Given the description of an element on the screen output the (x, y) to click on. 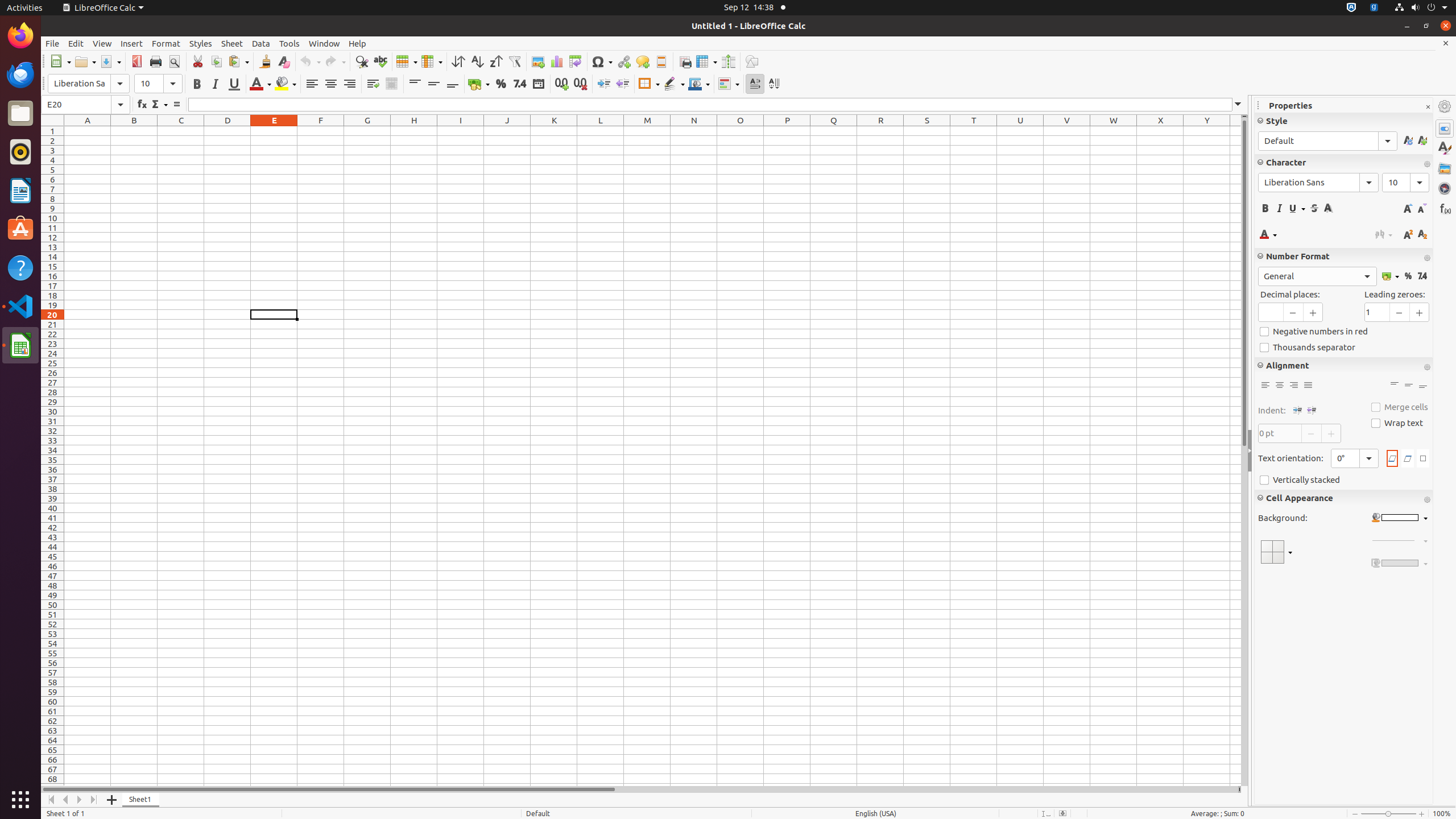
Expand Formula Bar Element type: push-button (1237, 104)
Align Right Element type: push-button (349, 83)
Strikethrough Element type: toggle-button (1313, 208)
O1 Element type: table-cell (740, 130)
Open Element type: push-button (84, 61)
